Given the description of an element on the screen output the (x, y) to click on. 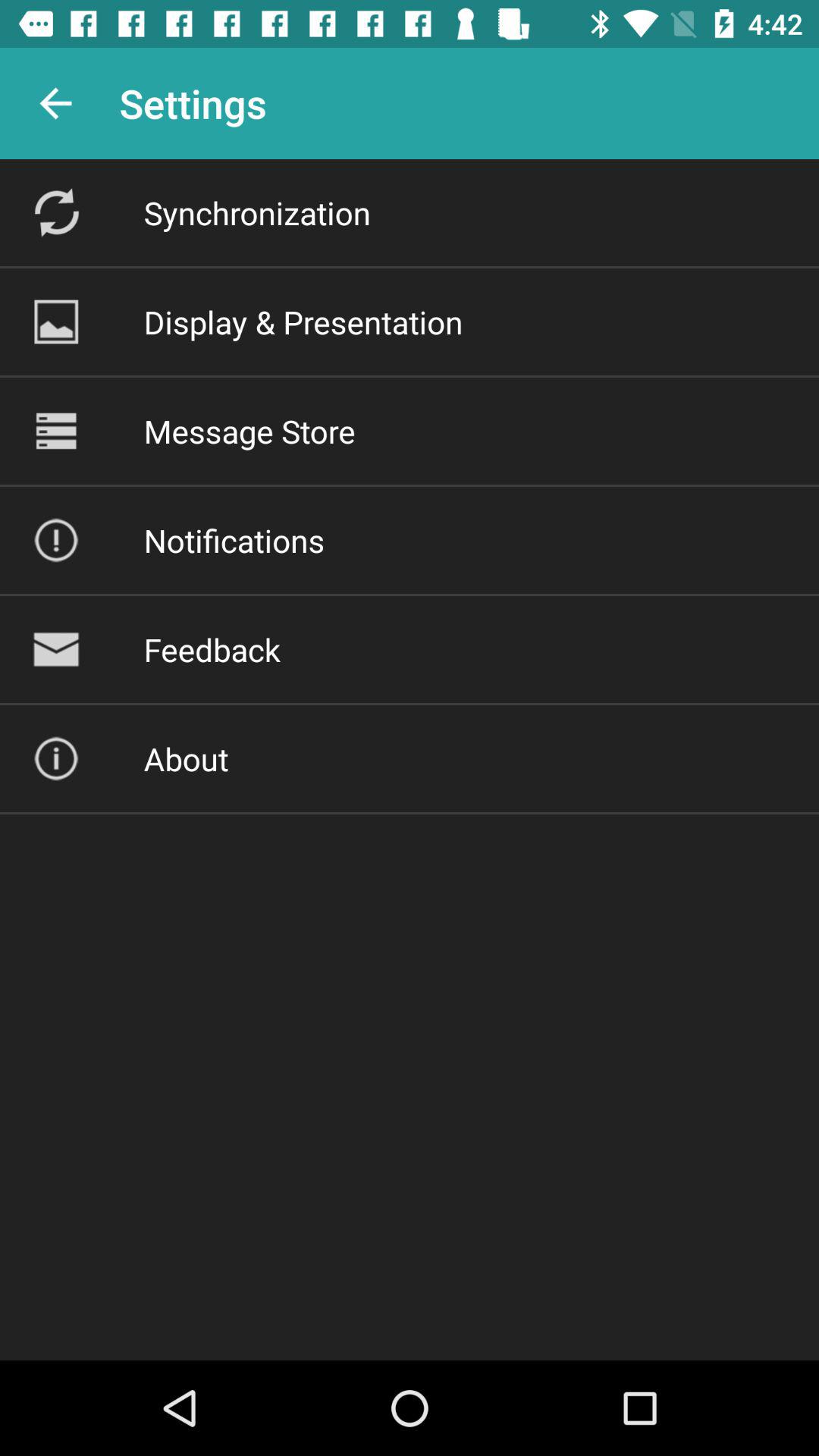
turn off the display & presentation icon (302, 321)
